Given the description of an element on the screen output the (x, y) to click on. 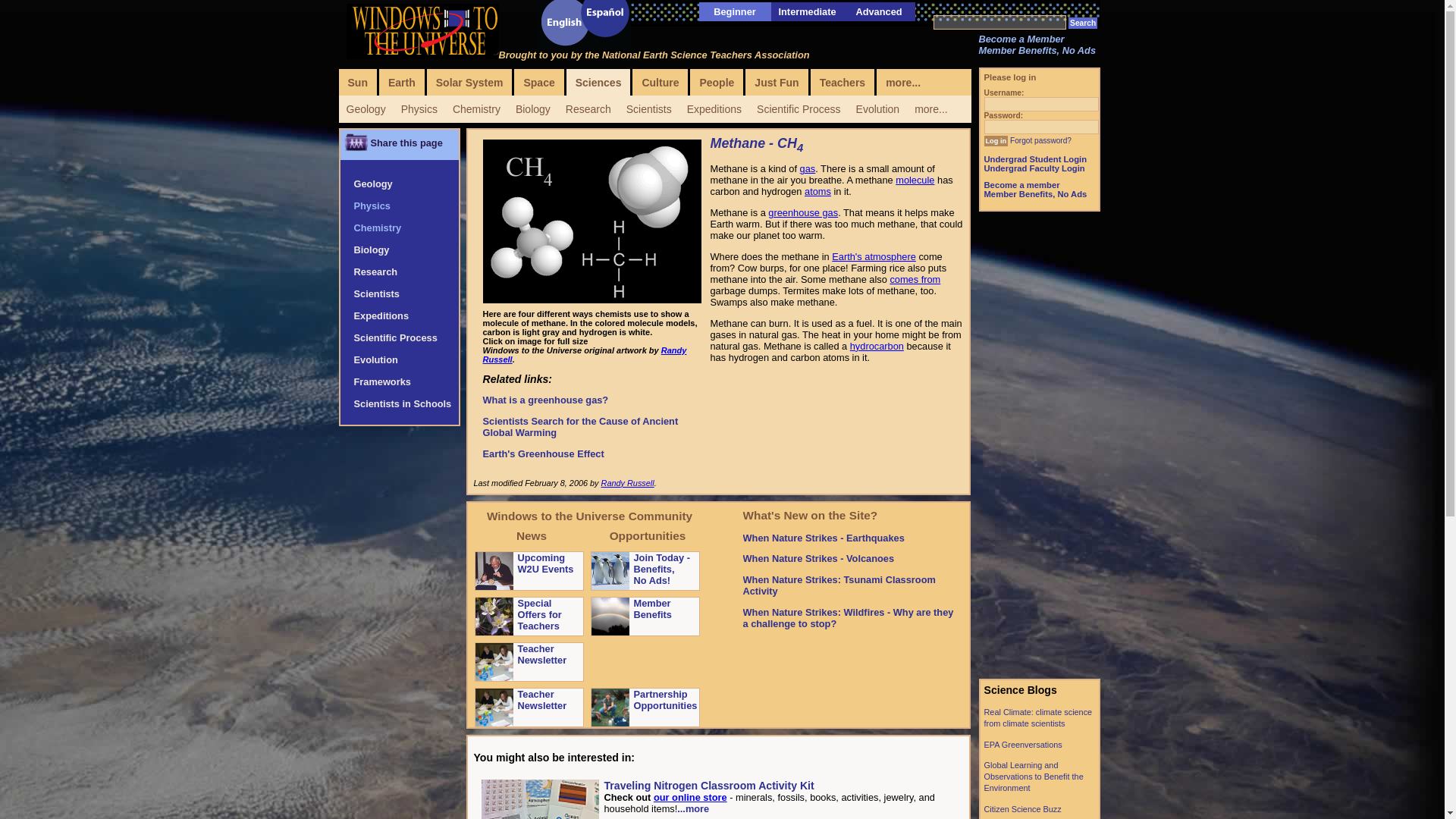
Earth (401, 82)
Log in (996, 140)
Search (1082, 22)
Search (1082, 22)
Search (1082, 22)
Intermediate (806, 11)
Beginner (734, 11)
Become a Member (1021, 39)
Sun (356, 82)
Advanced (878, 11)
Member Benefits, No Ads (1037, 50)
